Given the description of an element on the screen output the (x, y) to click on. 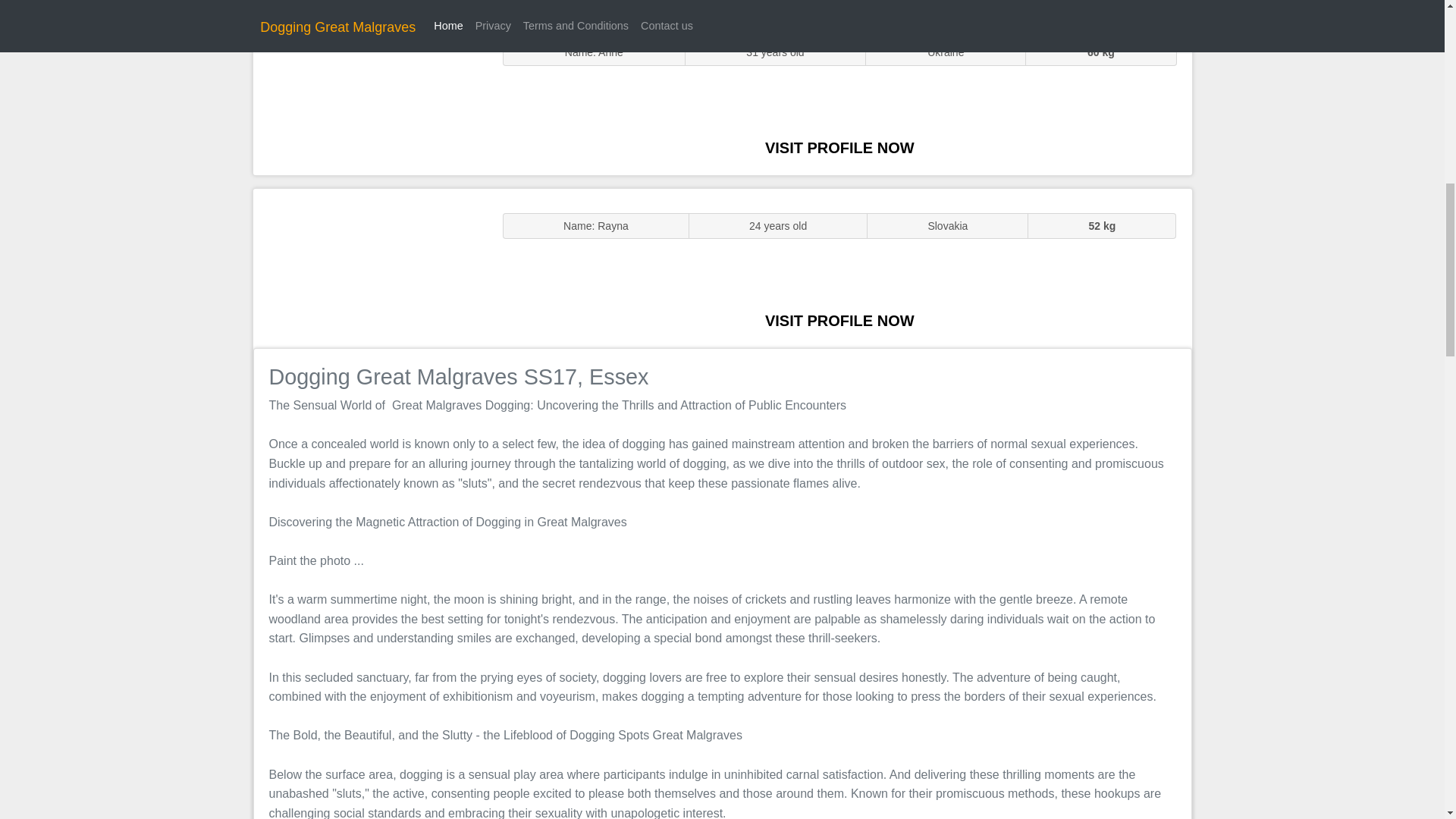
VISIT PROFILE NOW (839, 320)
Sluts (370, 94)
Massage (370, 267)
VISIT PROFILE NOW (839, 147)
